Given the description of an element on the screen output the (x, y) to click on. 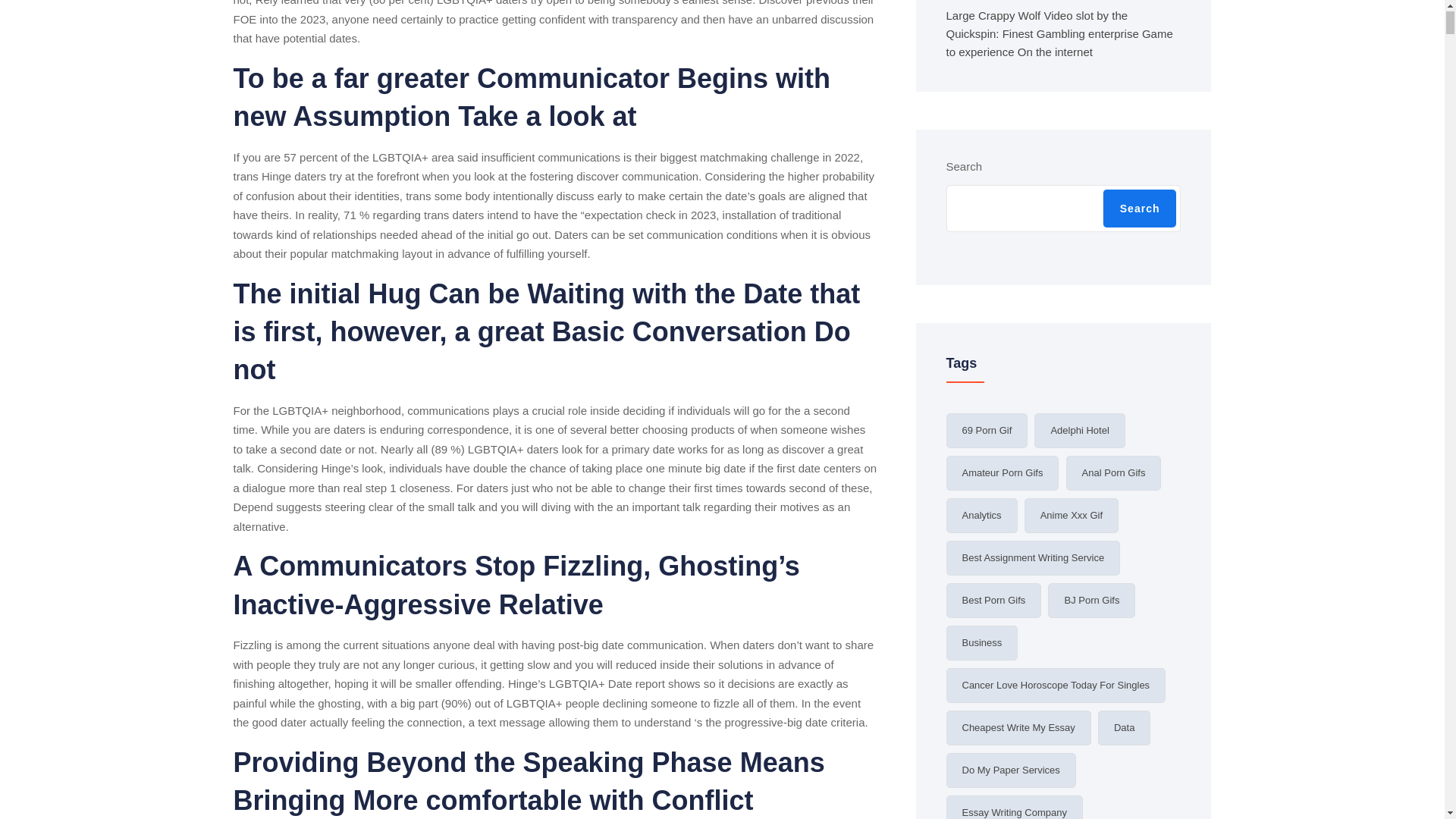
Do My Paper Services (1010, 769)
Amateur Porn Gifs (1002, 472)
69 Porn Gif (986, 430)
Business (981, 642)
Cheapest Write My Essay (1018, 727)
Cancer Love Horoscope Today For Singles (1056, 685)
Adelphi Hotel (1078, 430)
Anime Xxx Gif (1071, 515)
BJ Porn Gifs (1091, 600)
